Given the description of an element on the screen output the (x, y) to click on. 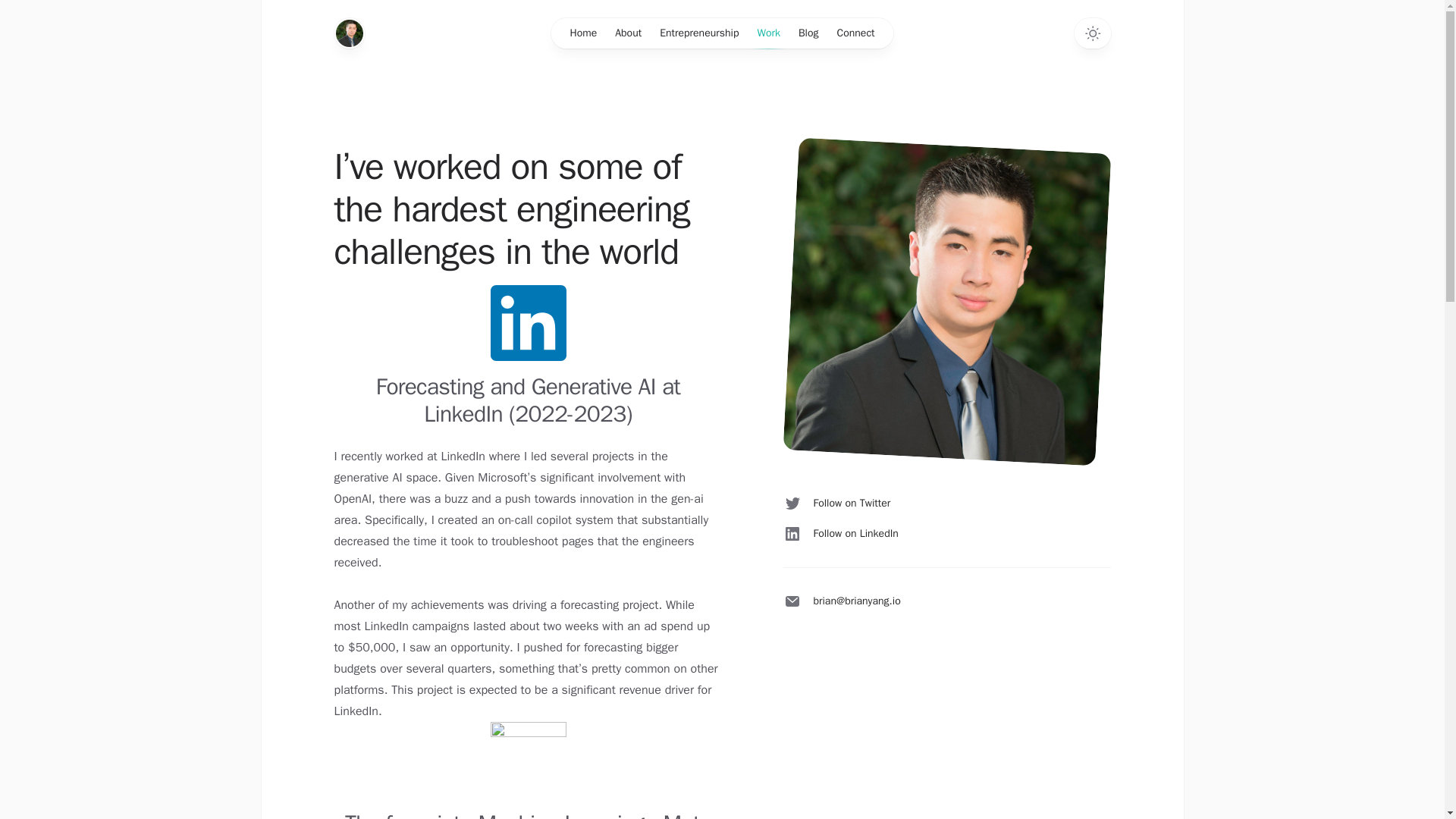
Home (582, 33)
About (627, 33)
Follow on LinkedIn (840, 533)
Work (768, 33)
Blog (808, 33)
Connect (855, 33)
Follow on Twitter (836, 503)
Entrepreneurship (699, 33)
